Given the description of an element on the screen output the (x, y) to click on. 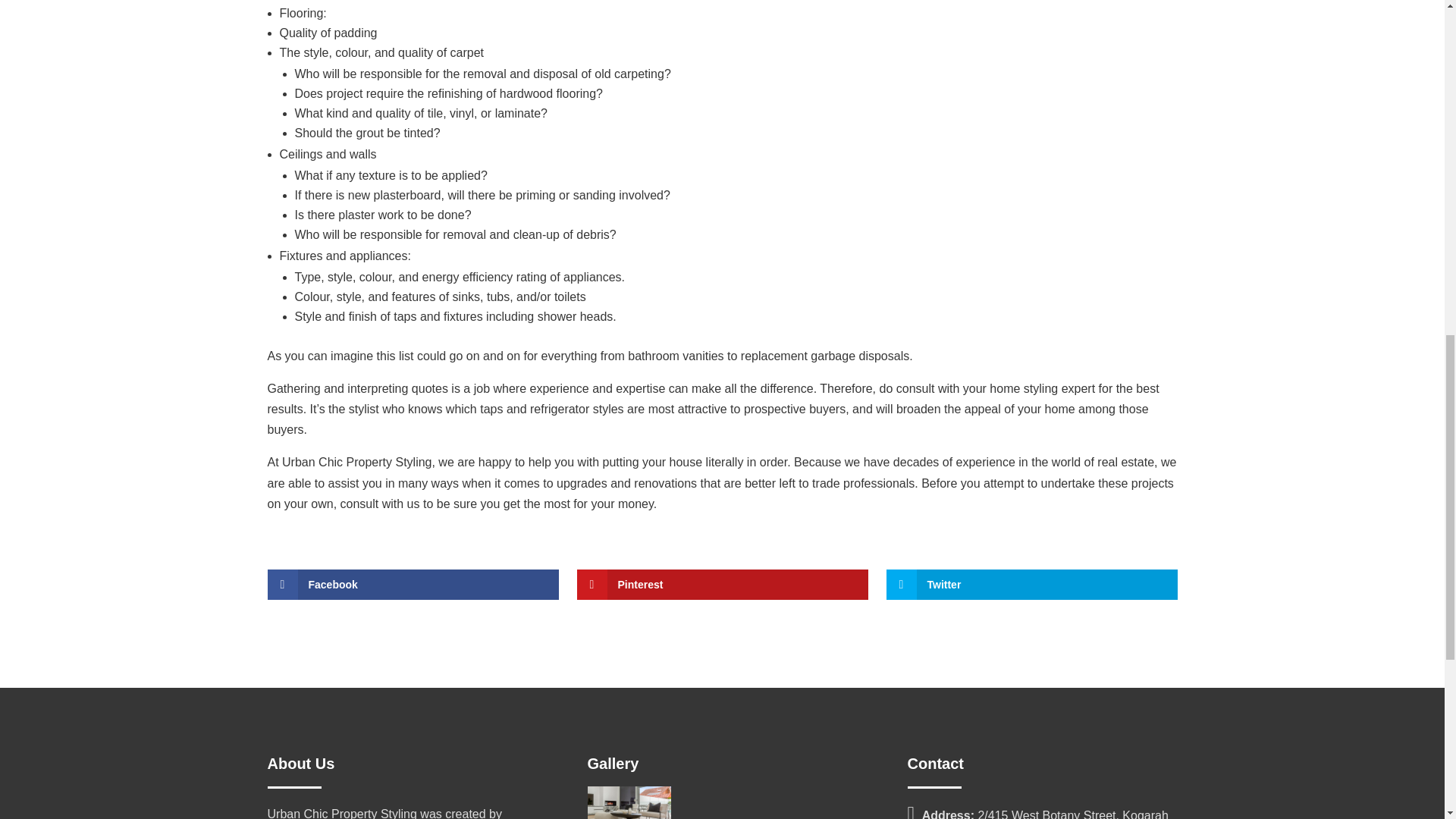
Facebook (411, 584)
Twitter (1030, 584)
Pinterest (721, 584)
